Given the description of an element on the screen output the (x, y) to click on. 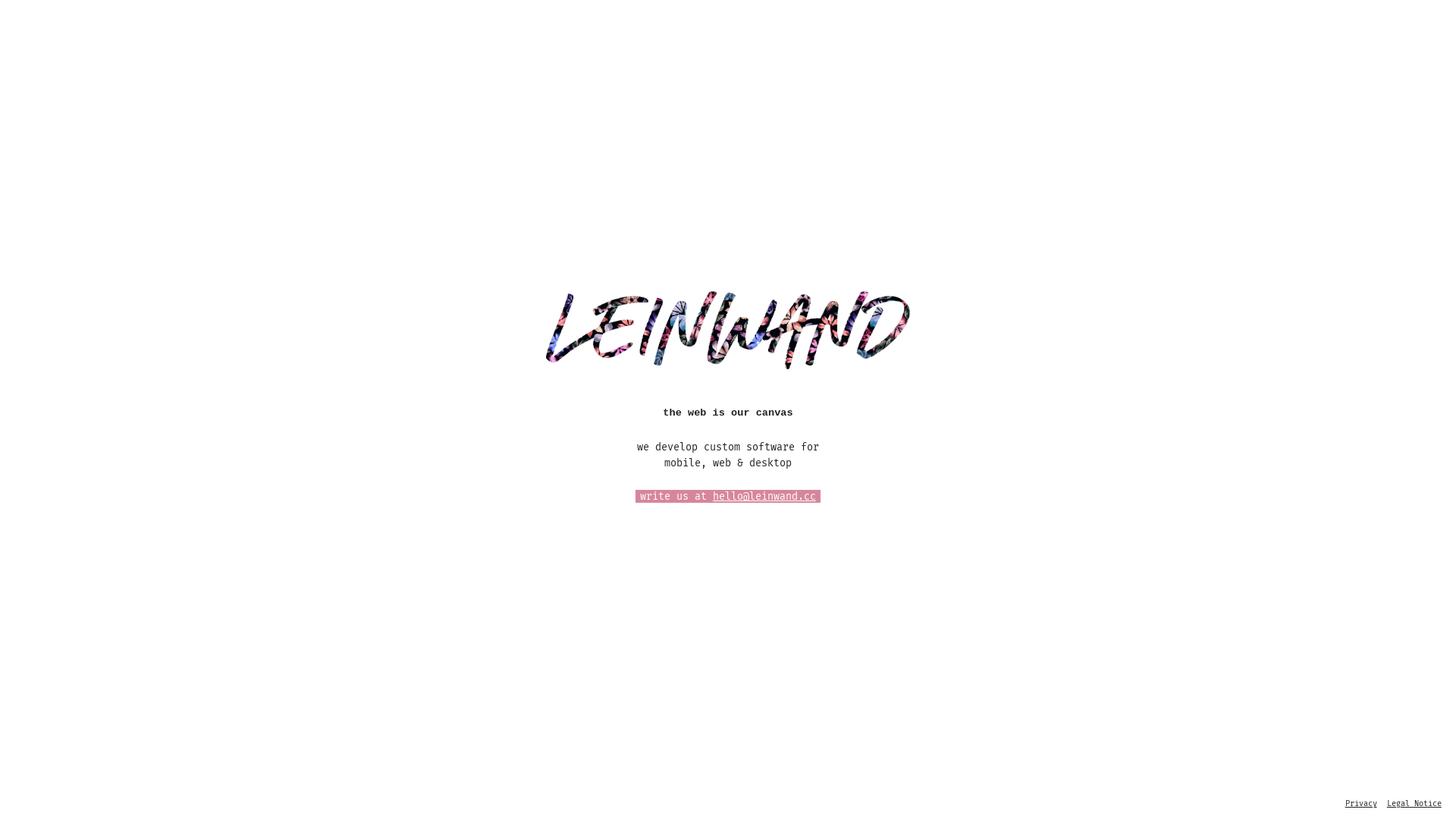
hello@leinwand.cc Element type: text (763, 495)
Legal Notice Element type: text (1413, 803)
Privacy Element type: text (1361, 803)
